Given the description of an element on the screen output the (x, y) to click on. 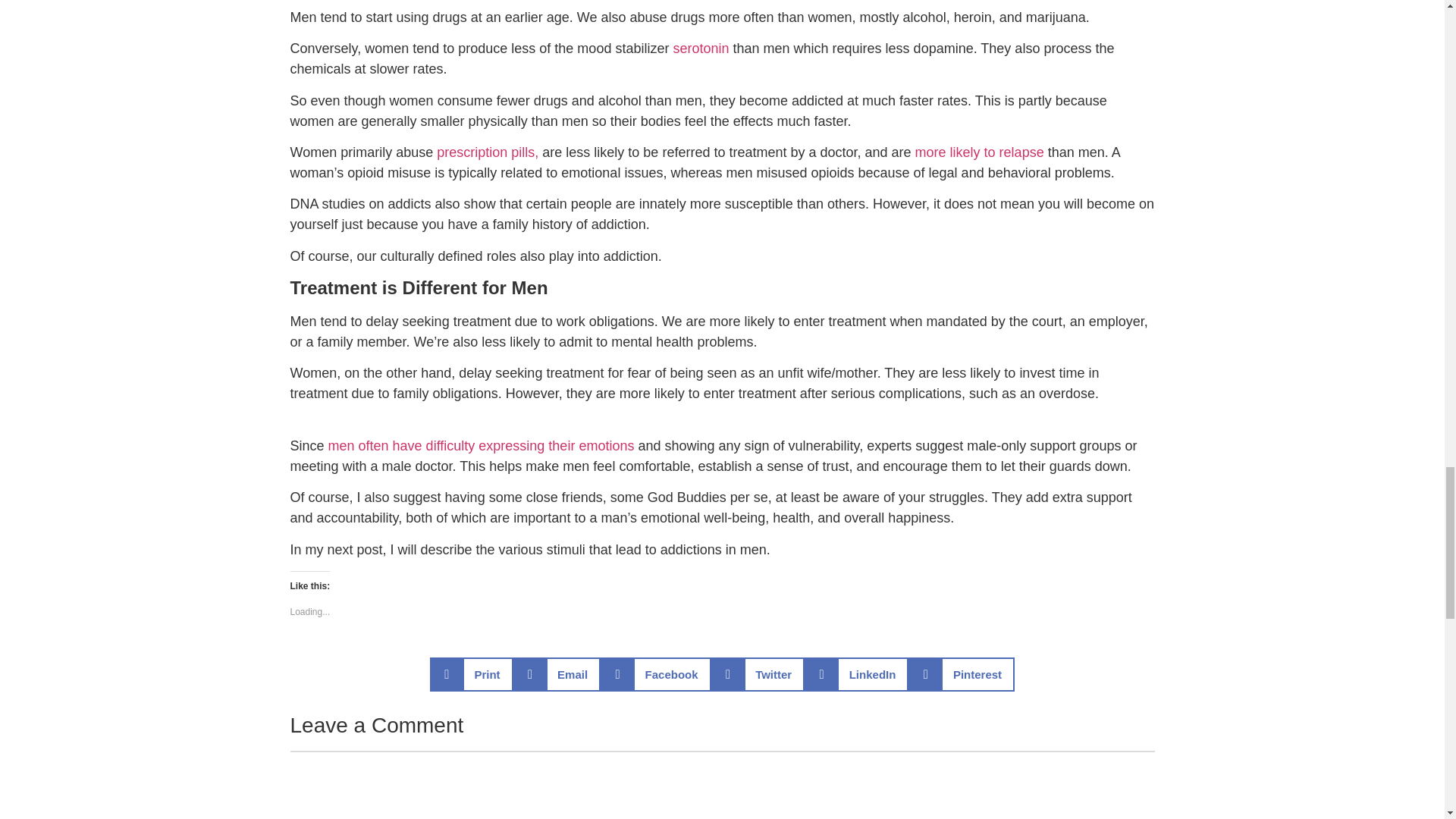
men often have difficulty expressing their emotions (481, 445)
more likely to relapse (979, 151)
Comment Form (721, 785)
prescription pills, (487, 151)
serotonin (700, 48)
